Given the description of an element on the screen output the (x, y) to click on. 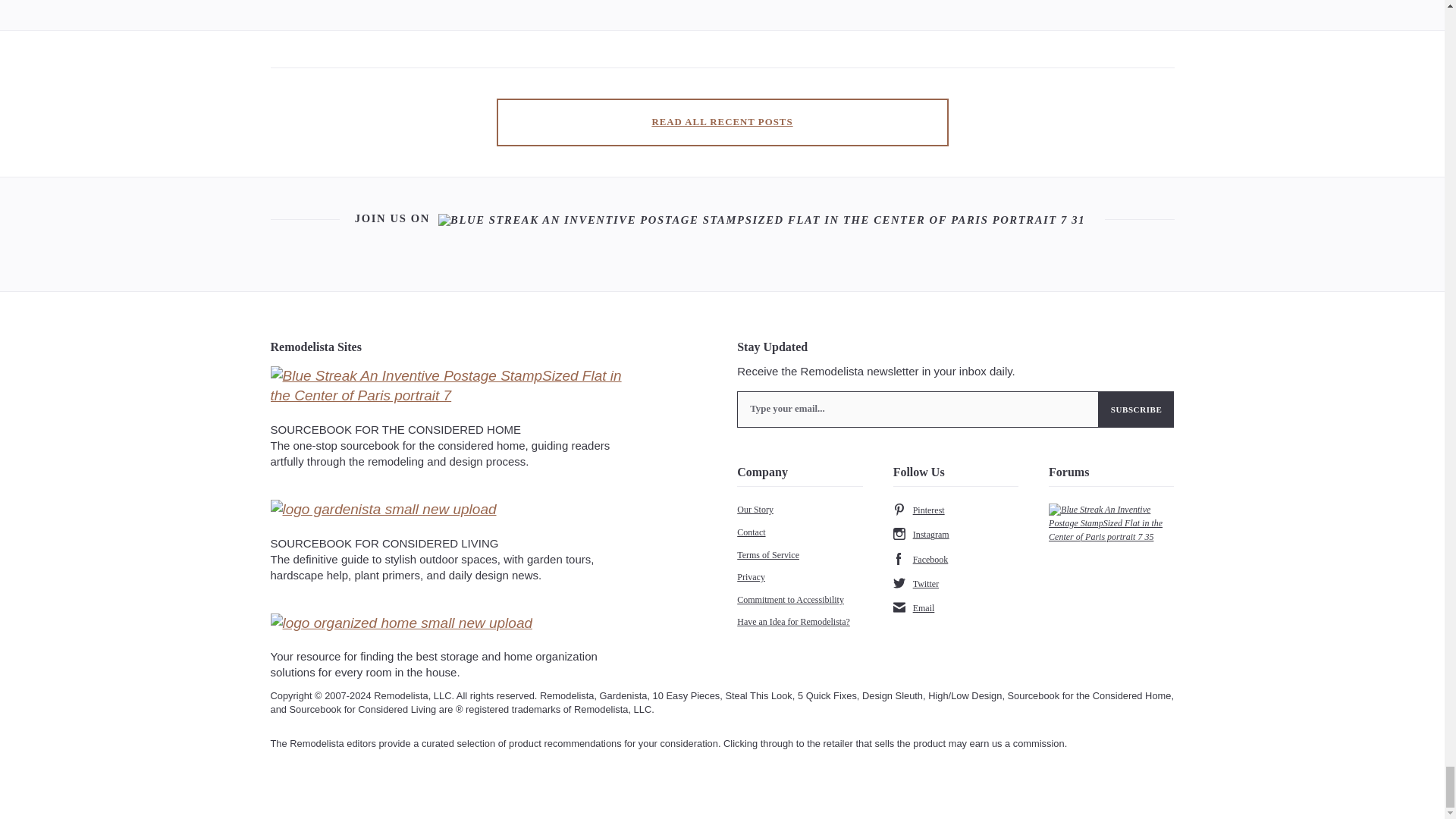
Subscribe (1136, 409)
